Given the description of an element on the screen output the (x, y) to click on. 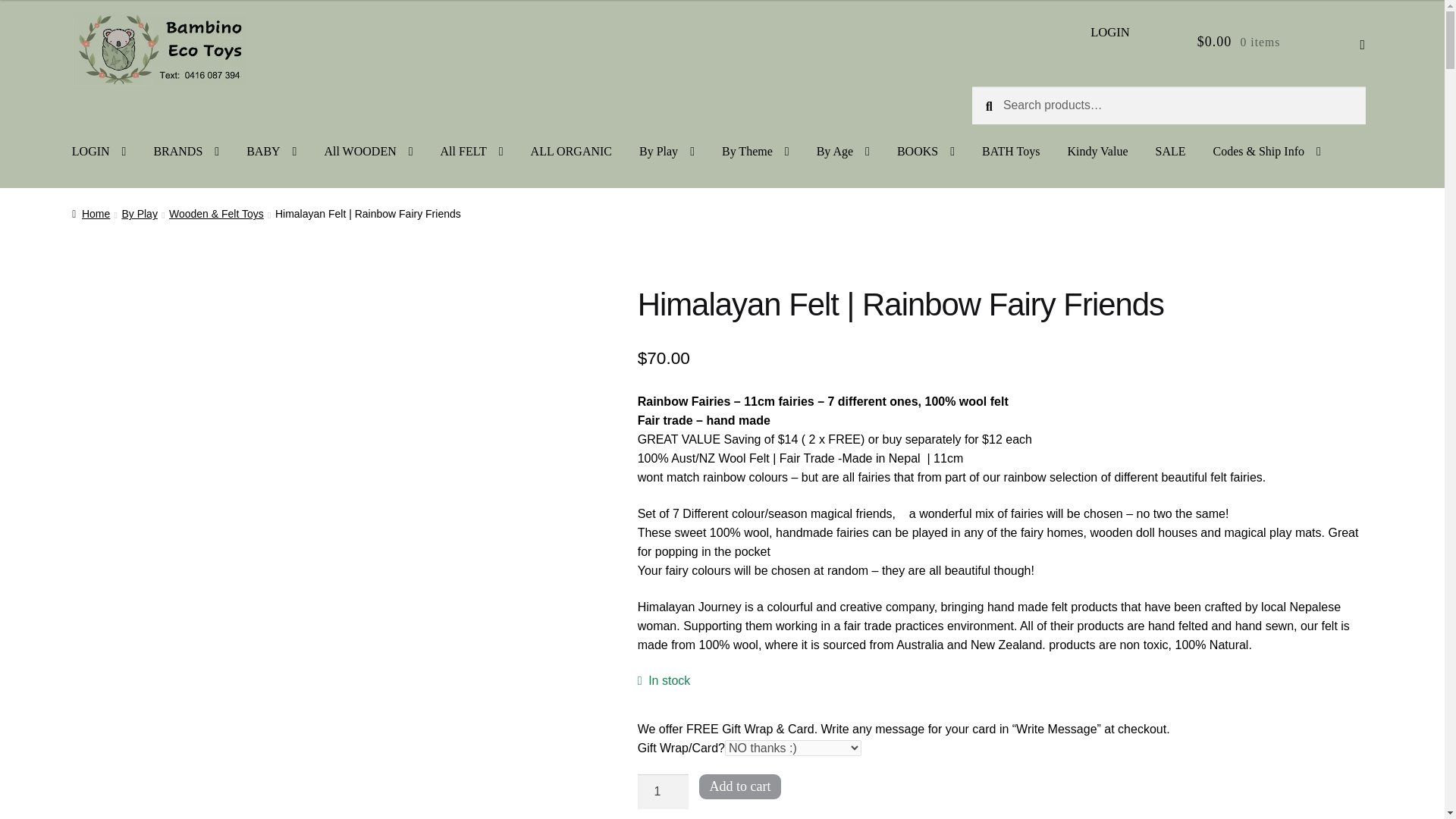
1 (662, 791)
BRANDS (186, 151)
LOGIN (1110, 32)
Our Great Brands (186, 151)
View your shopping cart (1281, 42)
newborn-baby-christening-babyshower-gifts (271, 151)
LOGIN (98, 151)
